Given the description of an element on the screen output the (x, y) to click on. 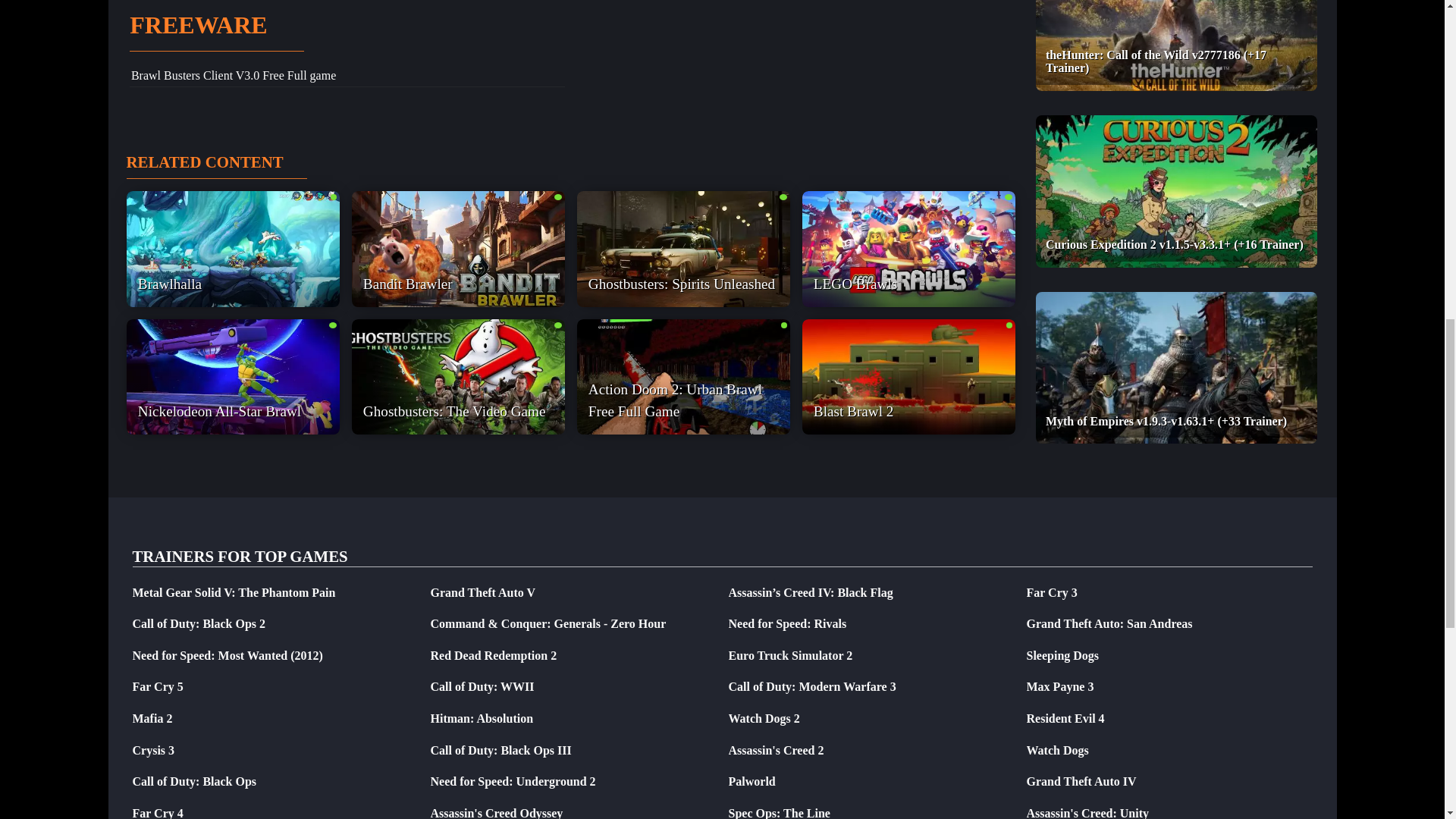
Brawlhalla (232, 248)
Nickelodeon All-Star Brawl (232, 376)
Brawl Busters Client V3.0 Free Full game (233, 74)
Ghostbusters: Spirits Unleashed (682, 248)
LEGO Brawls (908, 248)
Bandit Brawler (458, 248)
